Given the description of an element on the screen output the (x, y) to click on. 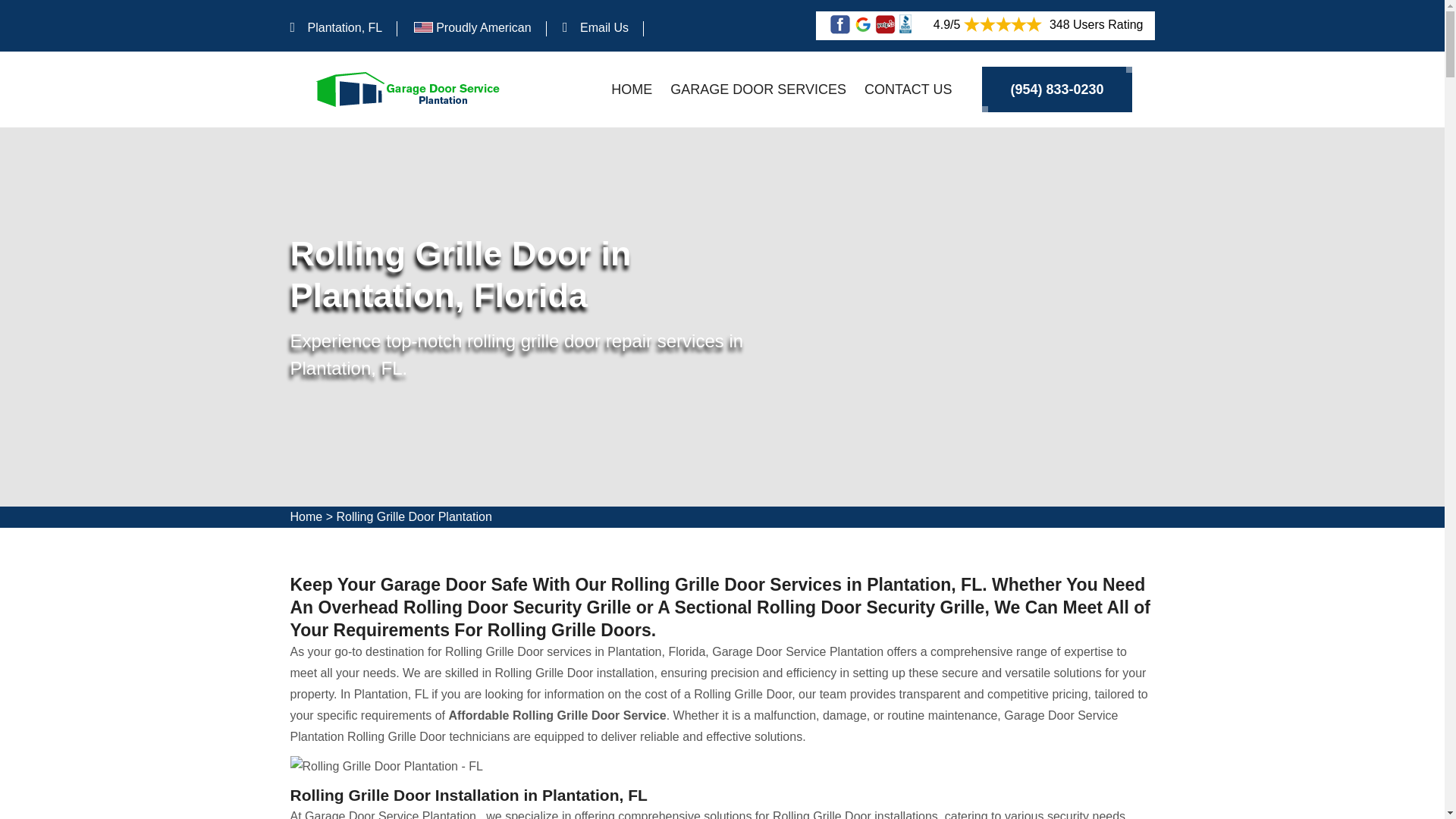
Plantation, FL (344, 27)
Rolling Grille Door Plantation (414, 516)
Home (305, 516)
GARAGE DOOR SERVICES (757, 88)
GARAGE DOOR SERVICES (757, 88)
CONTACT US (908, 88)
HOME (631, 88)
Email Us (603, 27)
